Given the description of an element on the screen output the (x, y) to click on. 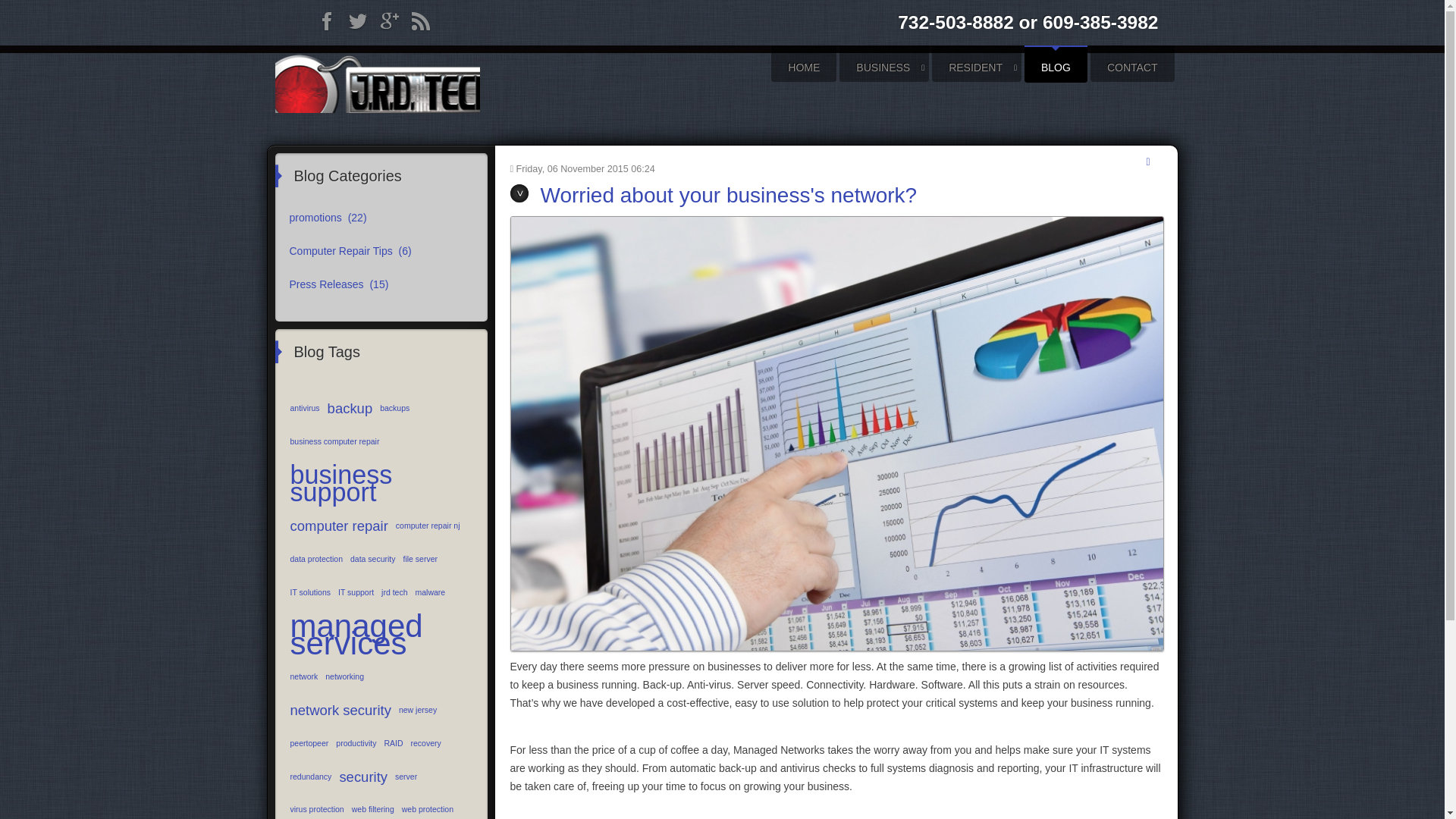
business computer repair (335, 441)
Subscribe to this RSS feed (1152, 162)
Worried about your business's network? (713, 195)
BLOG (1056, 67)
1 items tagged with business computer repair (335, 441)
1 items tagged with data security (372, 559)
5 items tagged with managed services (381, 634)
file server (419, 559)
2 items tagged with backup (350, 408)
2 items tagged with computer repair (338, 525)
RESIDENT (976, 67)
business support (381, 484)
1 items tagged with malware (430, 592)
data security (372, 559)
4 items tagged with business support (381, 484)
